Given the description of an element on the screen output the (x, y) to click on. 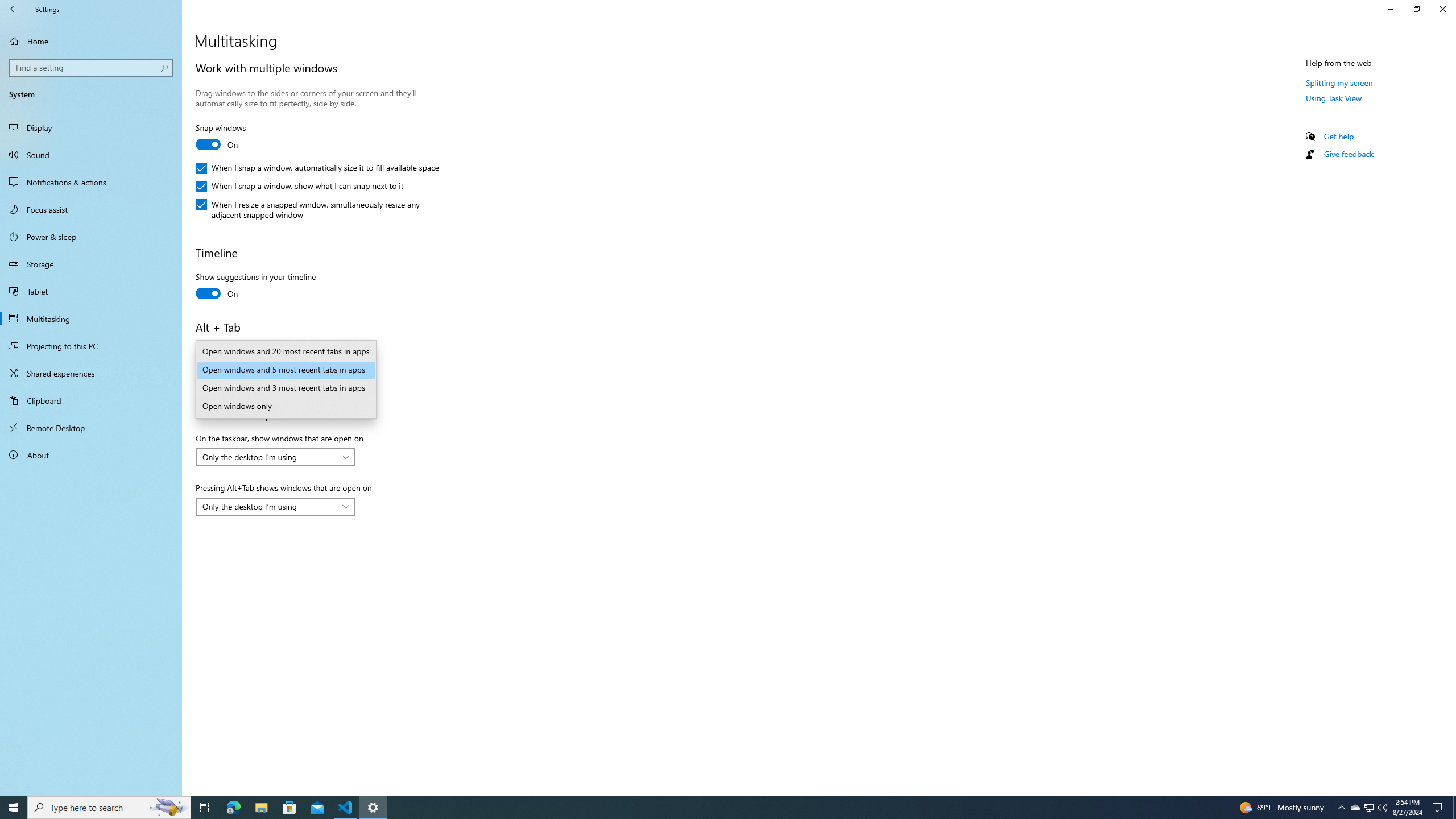
Display (91, 126)
Home (91, 40)
Settings - 1 running window (1355, 807)
Open windows and 3 most recent tabs in apps (373, 807)
Close Settings (285, 388)
Q2790: 100% (1442, 9)
Remote Desktop (1382, 807)
